Given the description of an element on the screen output the (x, y) to click on. 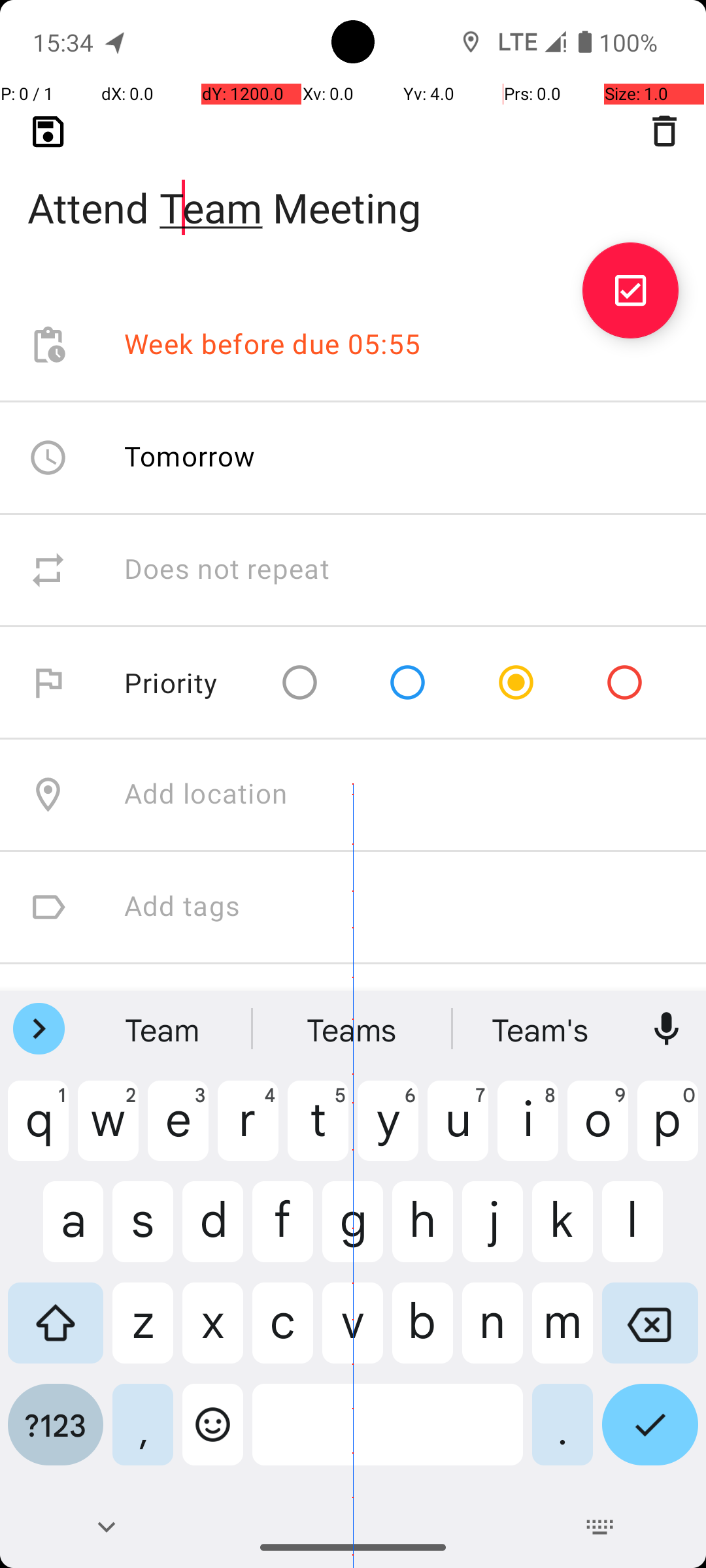
Week before due 05:55 Element type: android.widget.TextView (272, 344)
Team Element type: android.widget.FrameLayout (163, 1028)
Teams Element type: android.widget.FrameLayout (352, 1028)
Team's Element type: android.widget.FrameLayout (541, 1028)
